Given the description of an element on the screen output the (x, y) to click on. 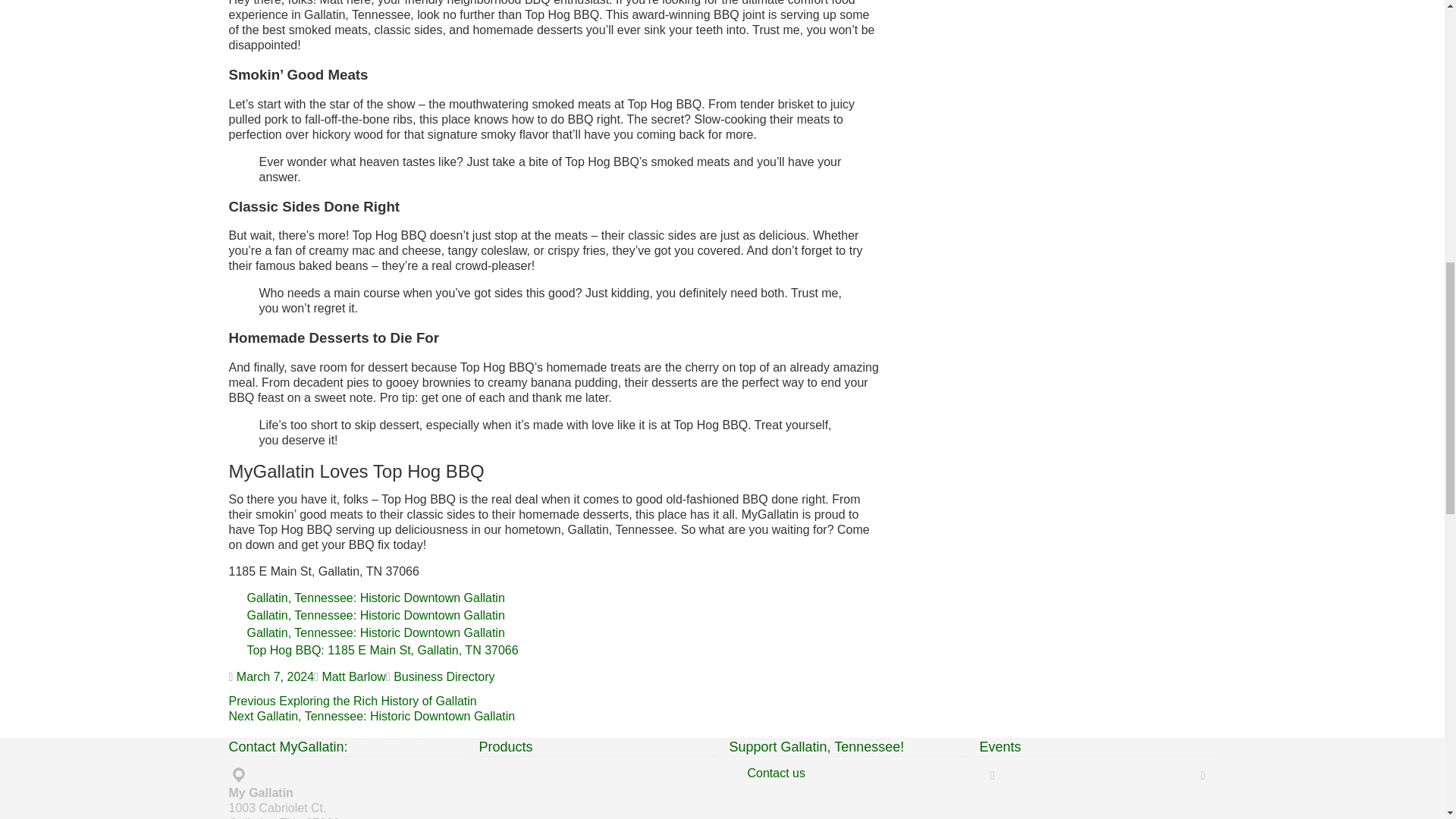
Business Directory (444, 676)
Gallatin, Tennessee: Historic Downtown Gallatin (564, 598)
Contact us (857, 773)
March 7, 2024 (274, 676)
Matt Barlow (353, 676)
Gallatin, Tennessee: Historic Downtown Gallatin (564, 632)
Gallatin, Tennessee: Historic Downtown Gallatin (564, 615)
Top Hog BBQ: 1185 E Main St, Gallatin, TN 37066 (564, 650)
